Given the description of an element on the screen output the (x, y) to click on. 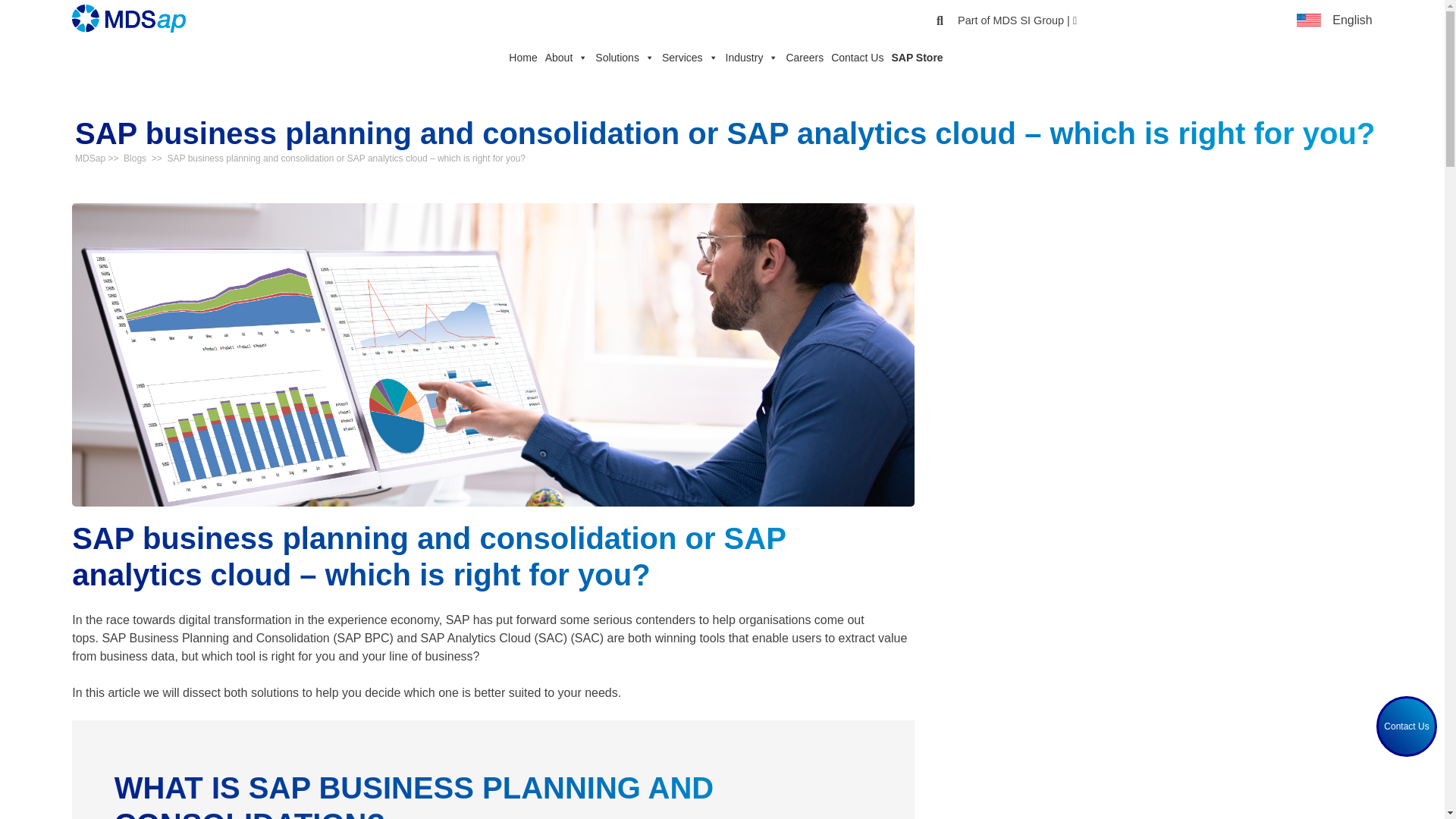
Home (518, 57)
About (562, 57)
Solutions (620, 57)
Contact Us (1406, 726)
